Given the description of an element on the screen output the (x, y) to click on. 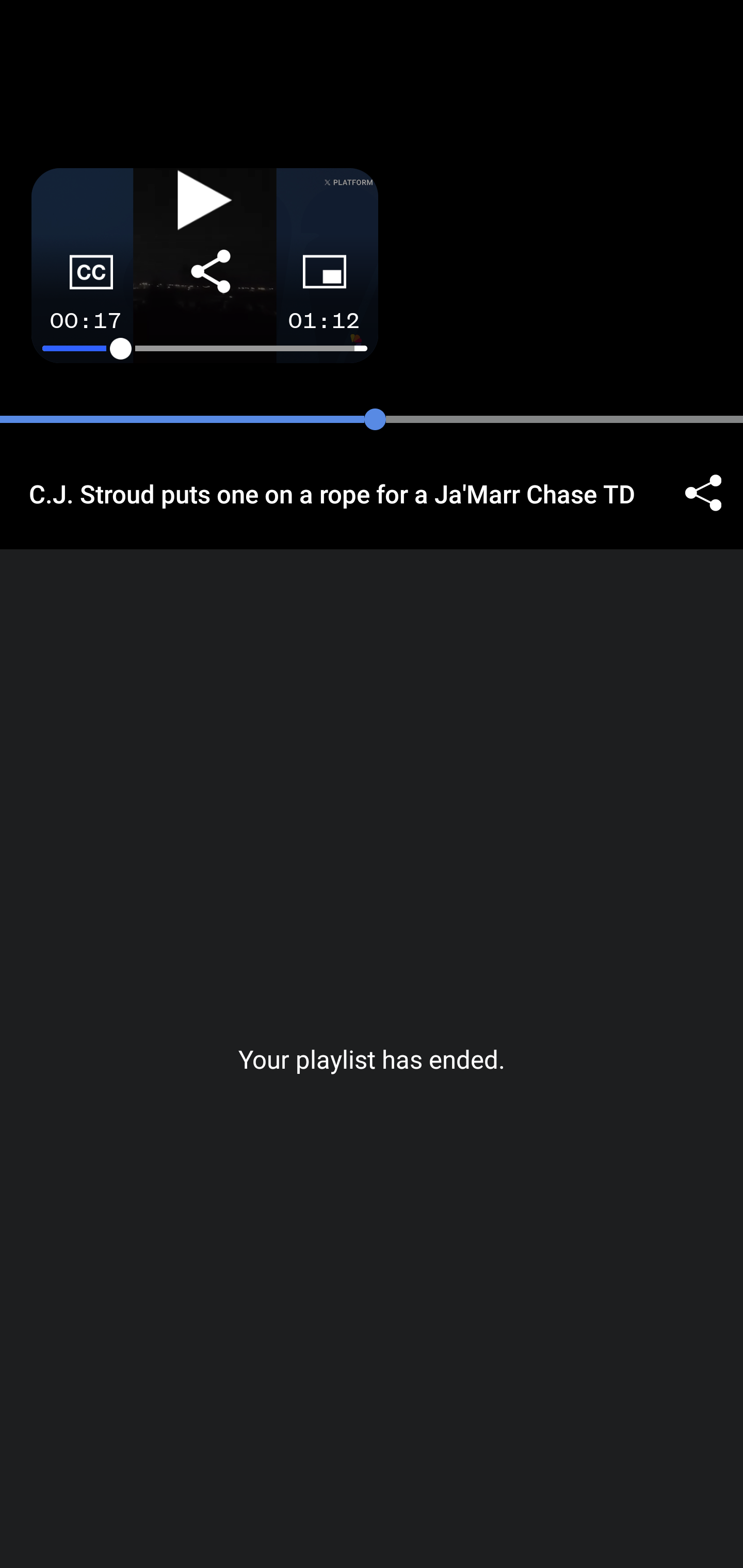
Share © (703, 493)
